Given the description of an element on the screen output the (x, y) to click on. 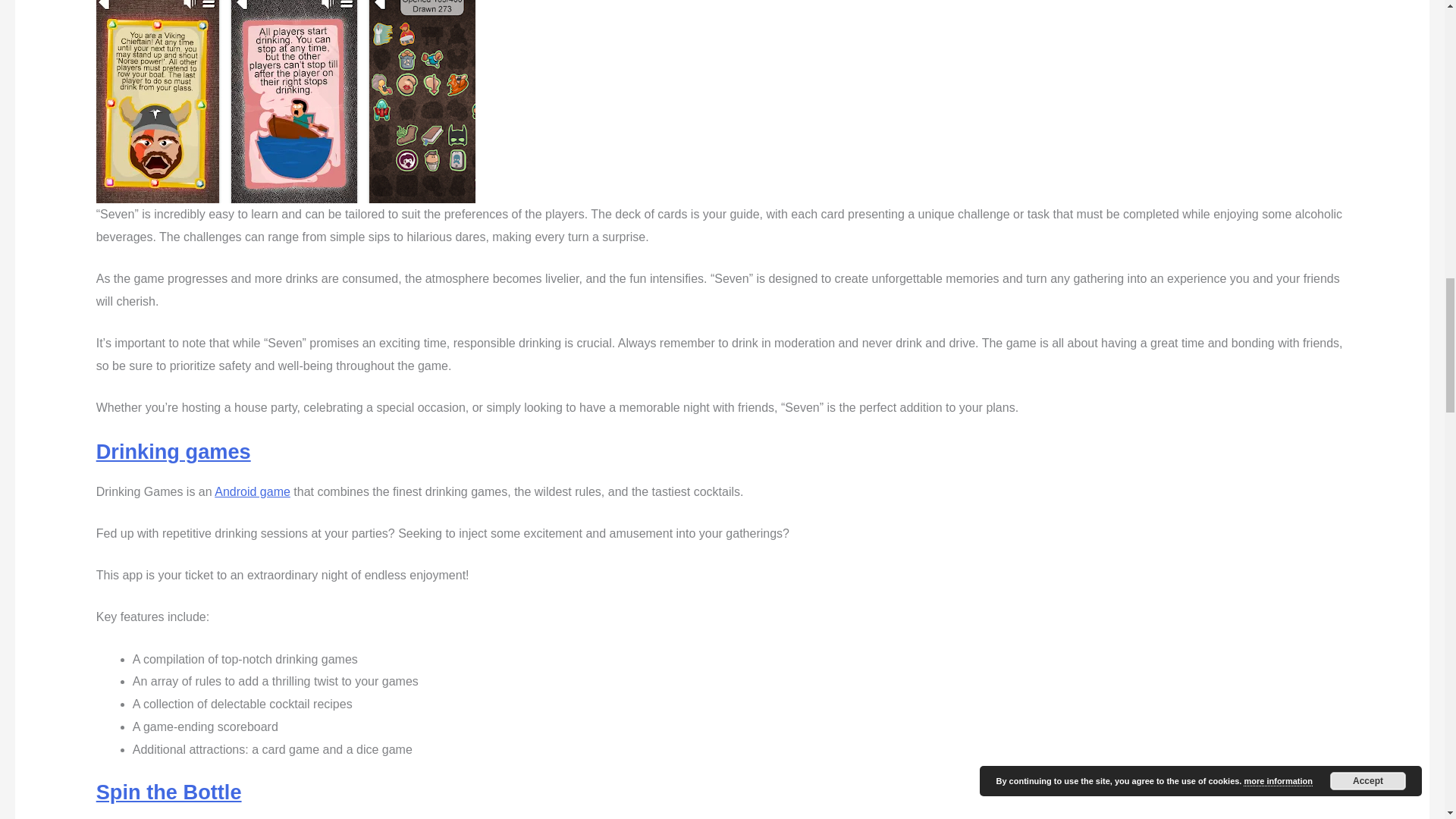
Spin the Bottle (168, 791)
Drinking games (173, 451)
Android game (251, 491)
